Given the description of an element on the screen output the (x, y) to click on. 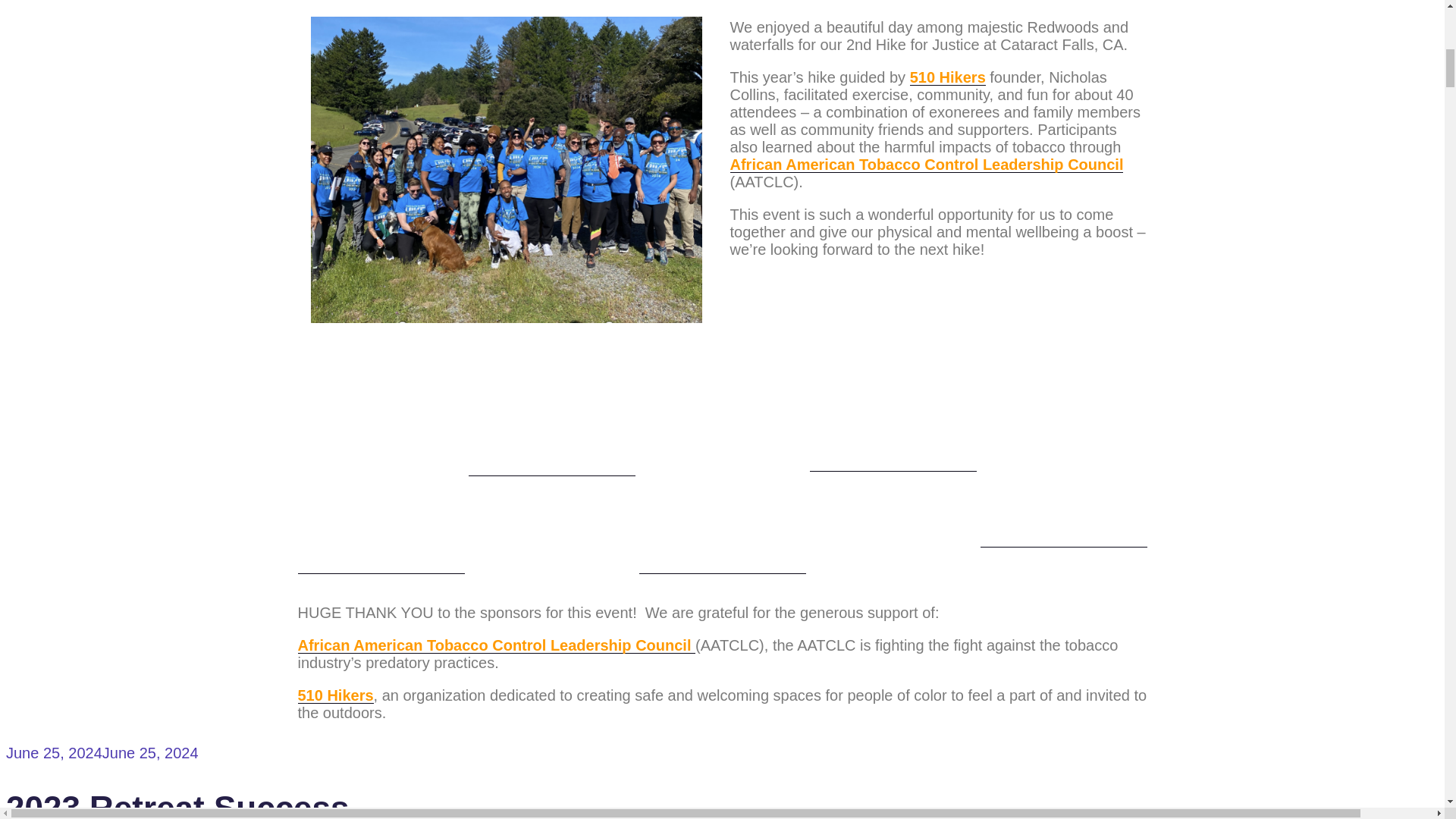
510 Hikers (947, 76)
African American Tobacco Control Leadership Council (925, 164)
